Given the description of an element on the screen output the (x, y) to click on. 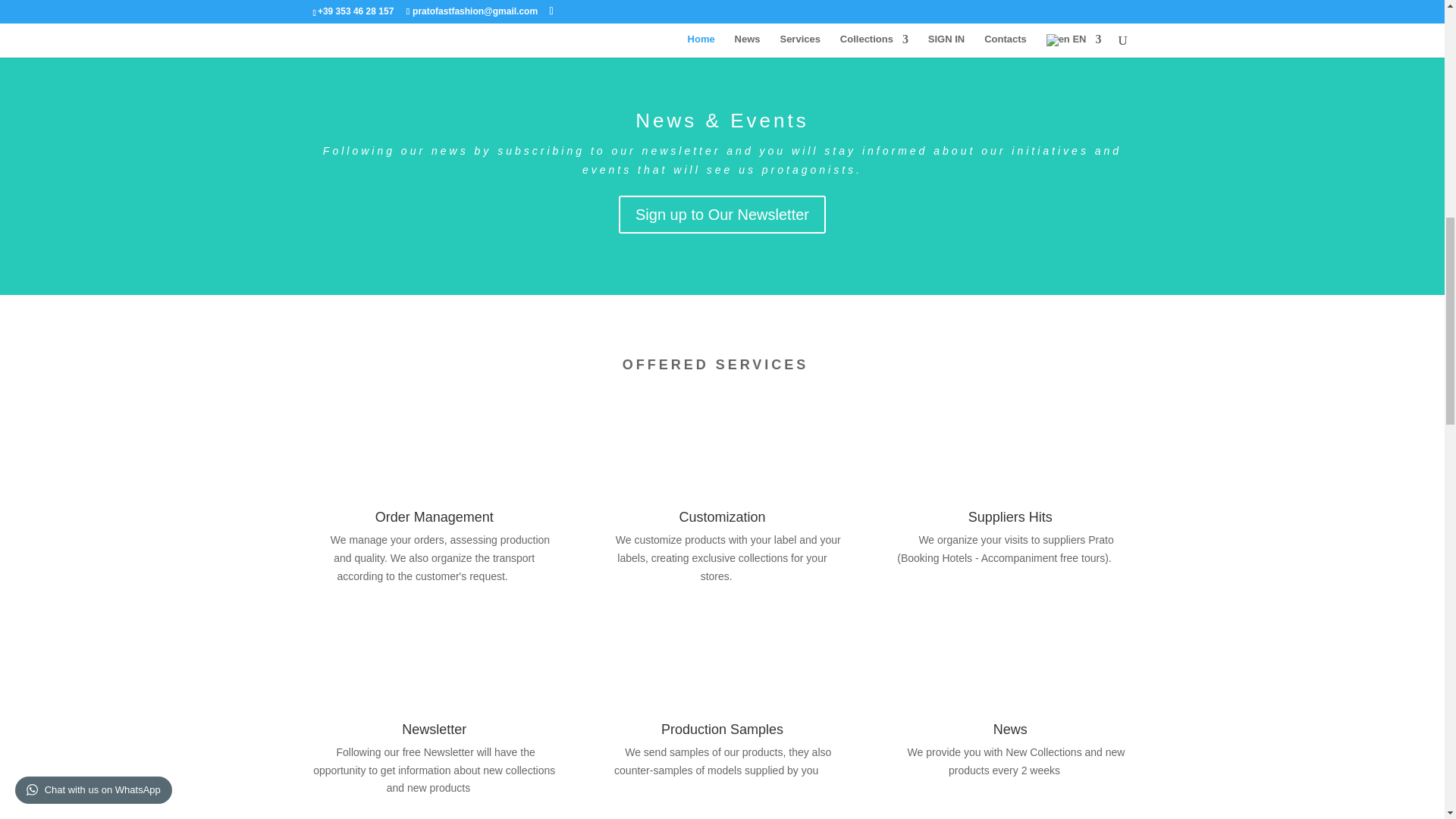
Sign up to Our Newsletter (721, 214)
